Given the description of an element on the screen output the (x, y) to click on. 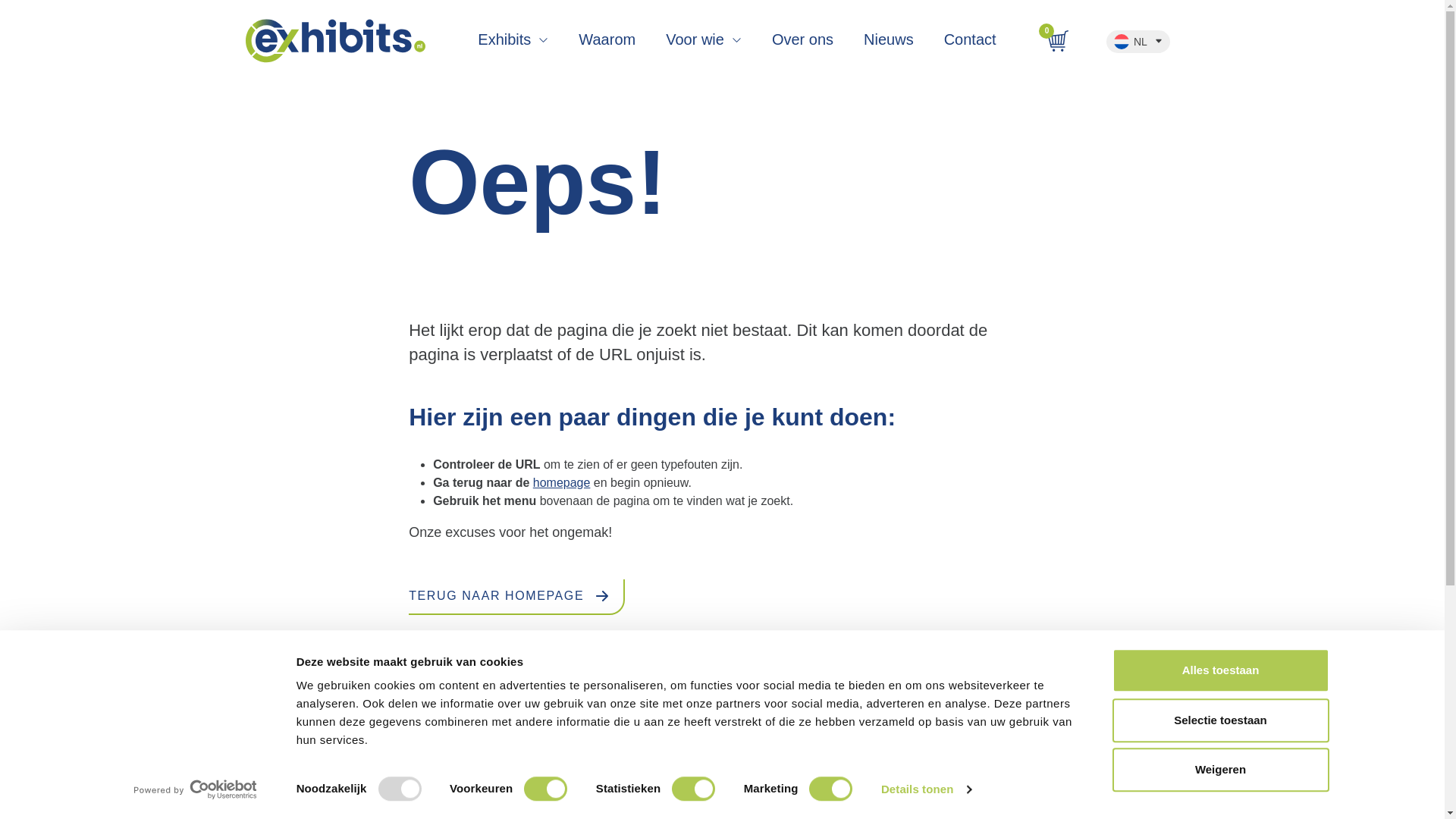
Alles toestaan (1219, 670)
Exhibits (513, 42)
Selectie toestaan (1219, 720)
Exhibits.nl (335, 41)
Weigeren (1219, 769)
Details tonen (925, 789)
